Given the description of an element on the screen output the (x, y) to click on. 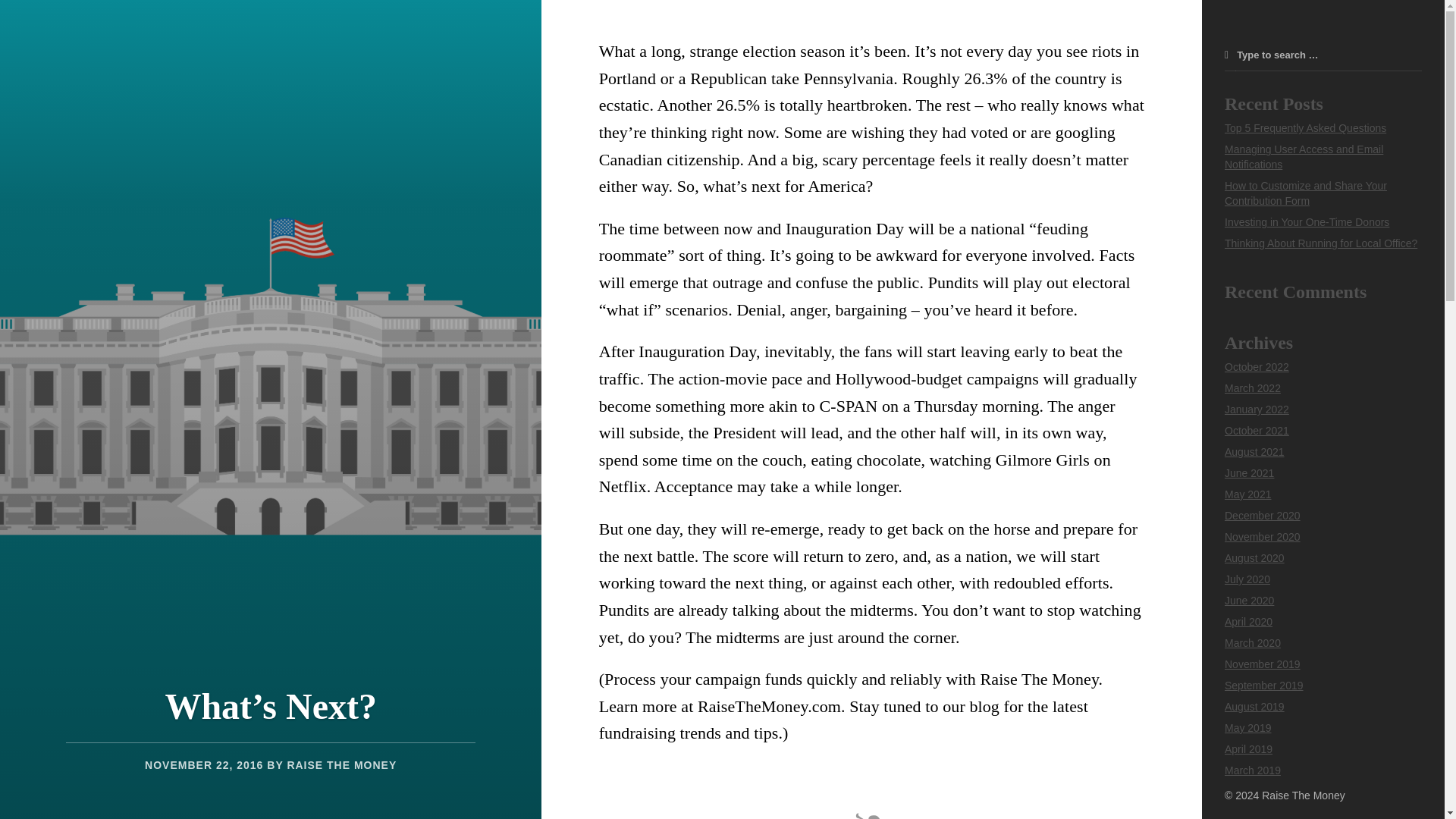
March 2022 (1252, 387)
August 2019 (1254, 706)
March 2019 (1252, 770)
Posts by Raise The Money (341, 765)
January 2019 (1256, 791)
March 2020 (1252, 643)
January 2022 (1256, 409)
October 2021 (1256, 430)
August 2021 (1254, 451)
Investing in Your One-Time Donors (1306, 222)
December 2020 (1262, 515)
Thinking About Running for Local Office? (1320, 243)
May 2019 (1247, 727)
November 2019 (1262, 664)
April 2020 (1248, 621)
